Given the description of an element on the screen output the (x, y) to click on. 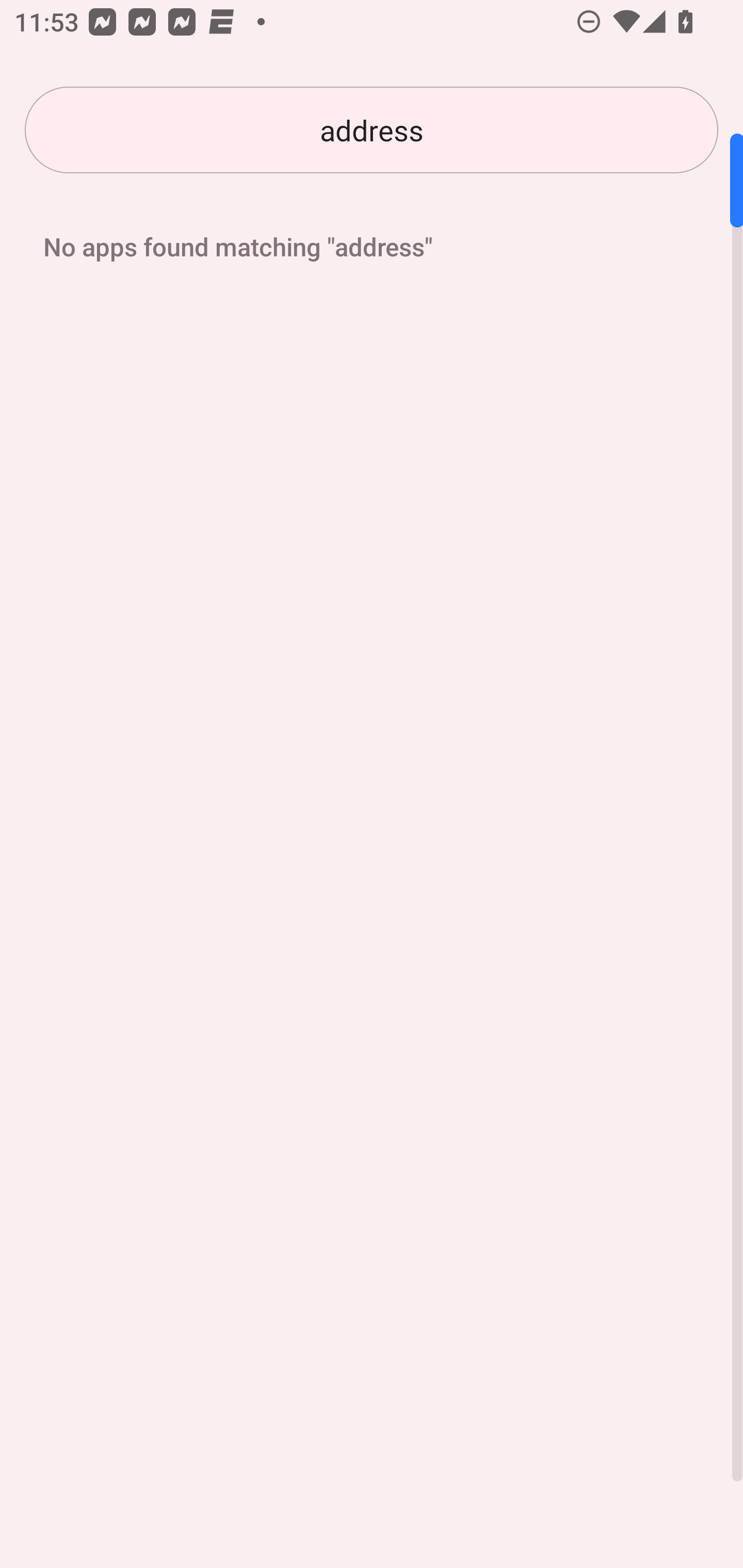
address (371, 130)
